Given the description of an element on the screen output the (x, y) to click on. 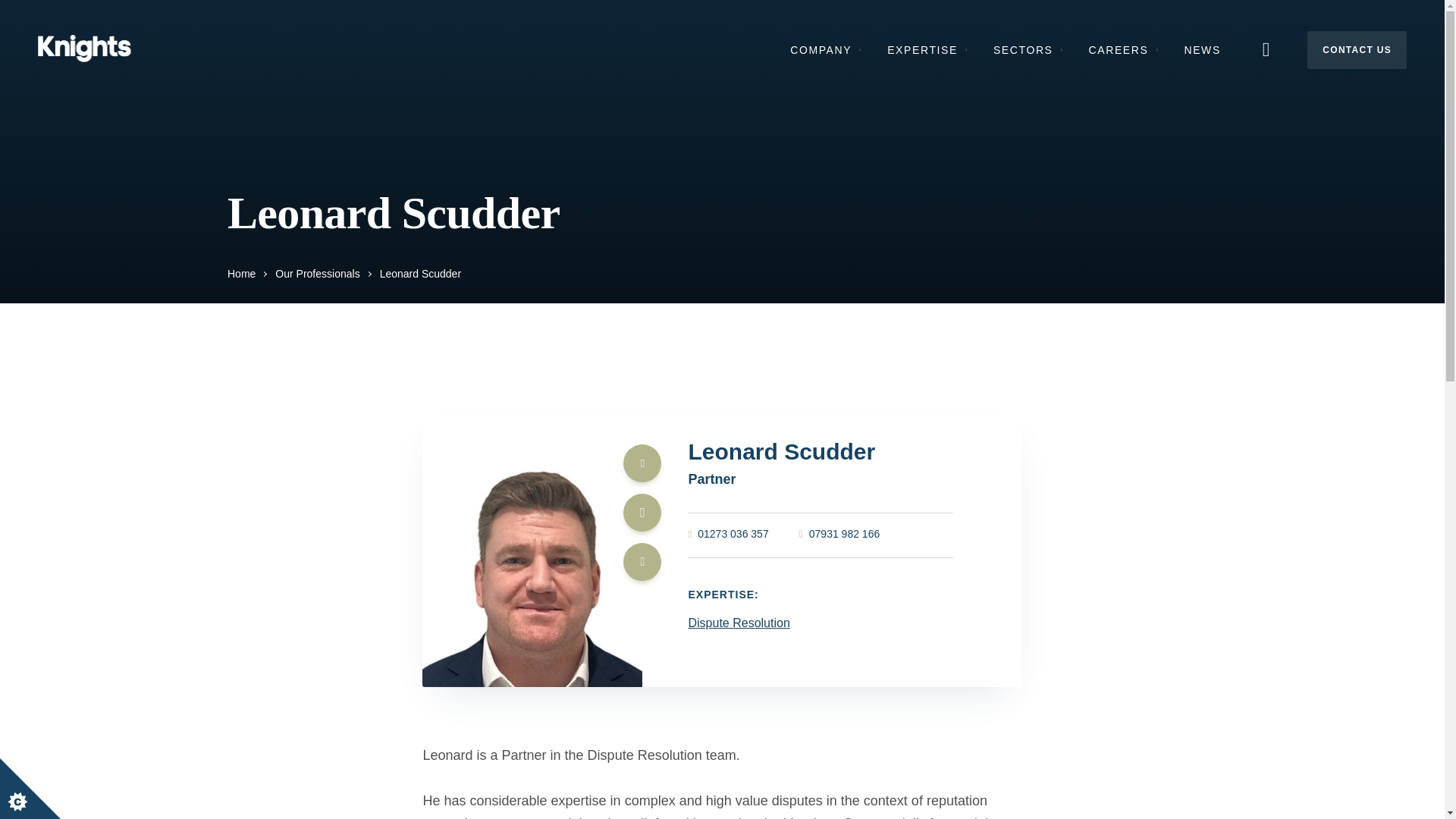
Cookie Control Icon (30, 788)
COMPANY (824, 49)
CONTACT US (1356, 48)
